Given the description of an element on the screen output the (x, y) to click on. 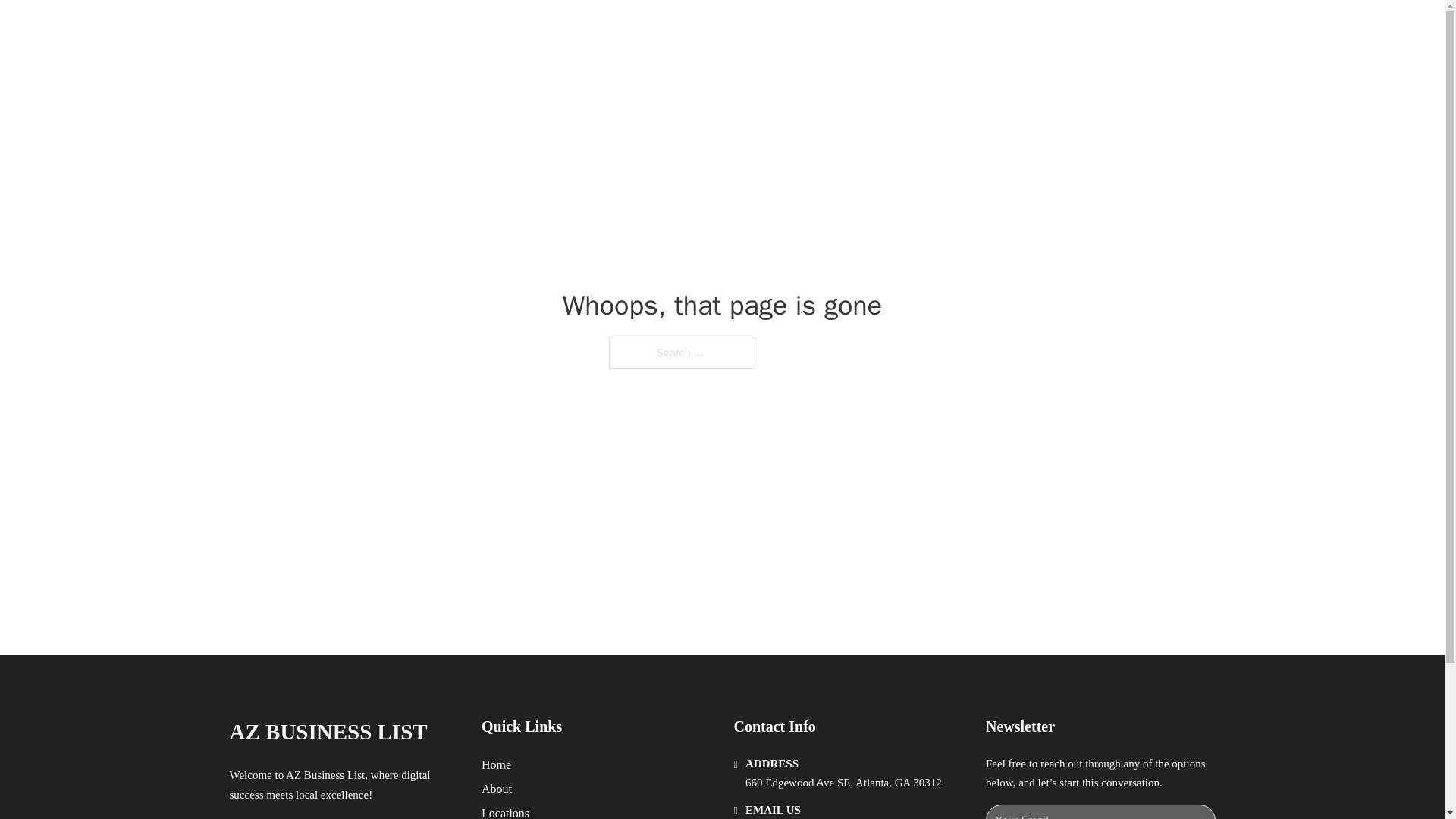
AZ BUSINESS LIST (327, 732)
HOME (919, 29)
Locations (505, 811)
AZ BUSINESS LIST (403, 28)
Home (496, 764)
LOCATIONS (990, 29)
About (496, 788)
